Given the description of an element on the screen output the (x, y) to click on. 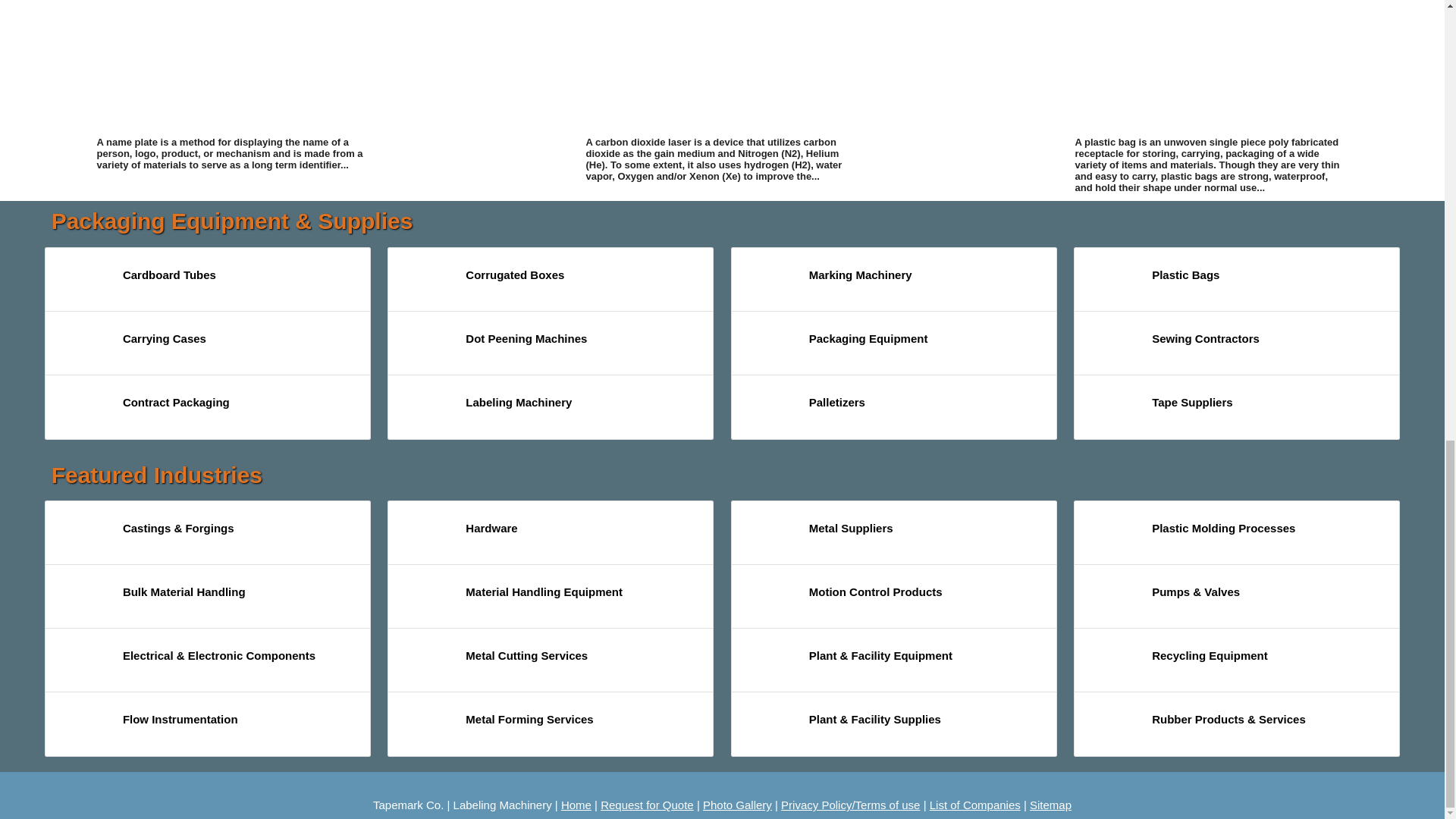
Plastic Bags (1211, 65)
New World Carrying Case (84, 346)
Corrugated Boxes (426, 282)
Name Plates (233, 65)
Cardboard Tube Manufacturers (84, 282)
CO2 Lasers (722, 65)
